Given the description of an element on the screen output the (x, y) to click on. 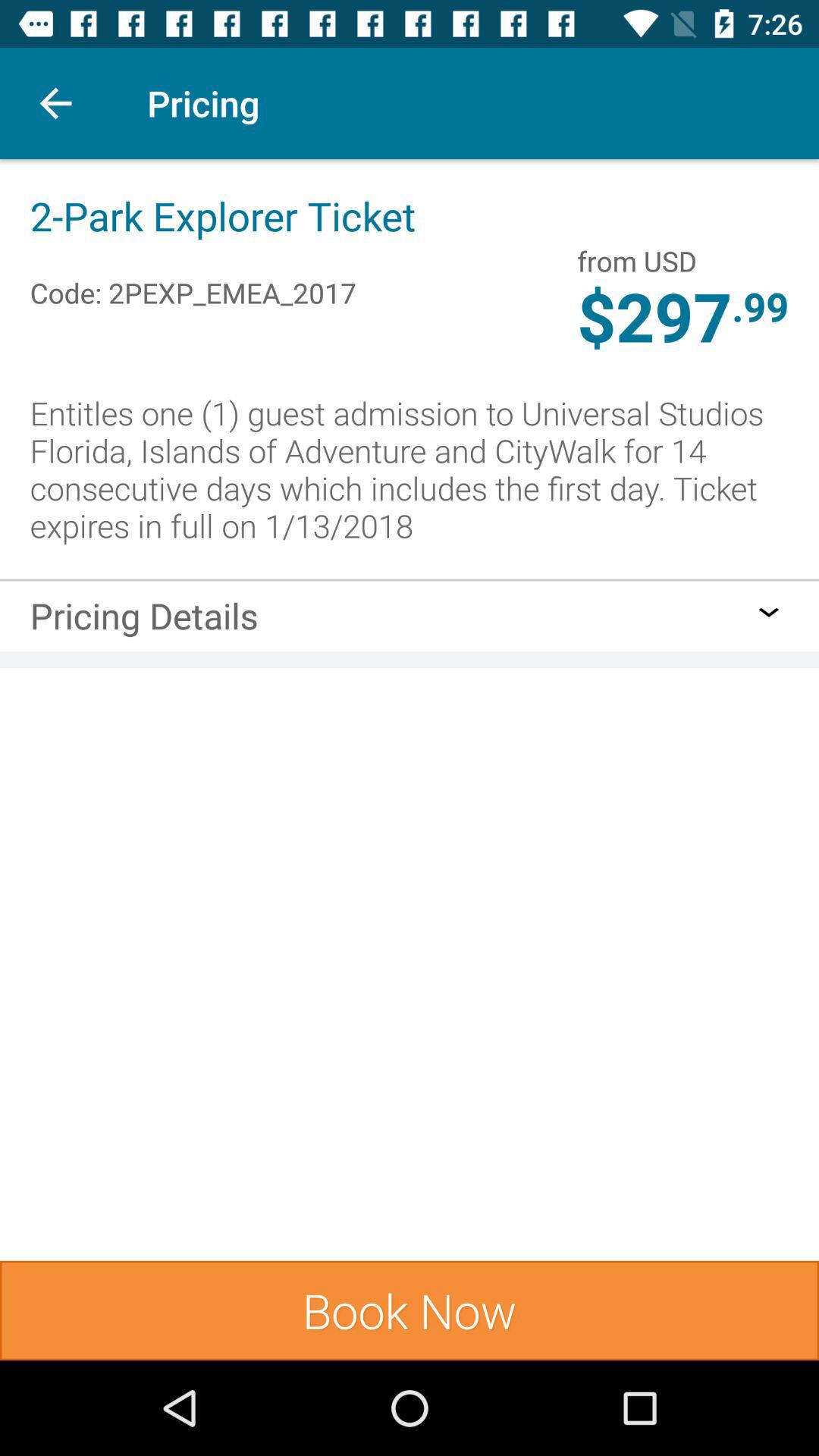
turn on the item above entitles one 1 (759, 305)
